Given the description of an element on the screen output the (x, y) to click on. 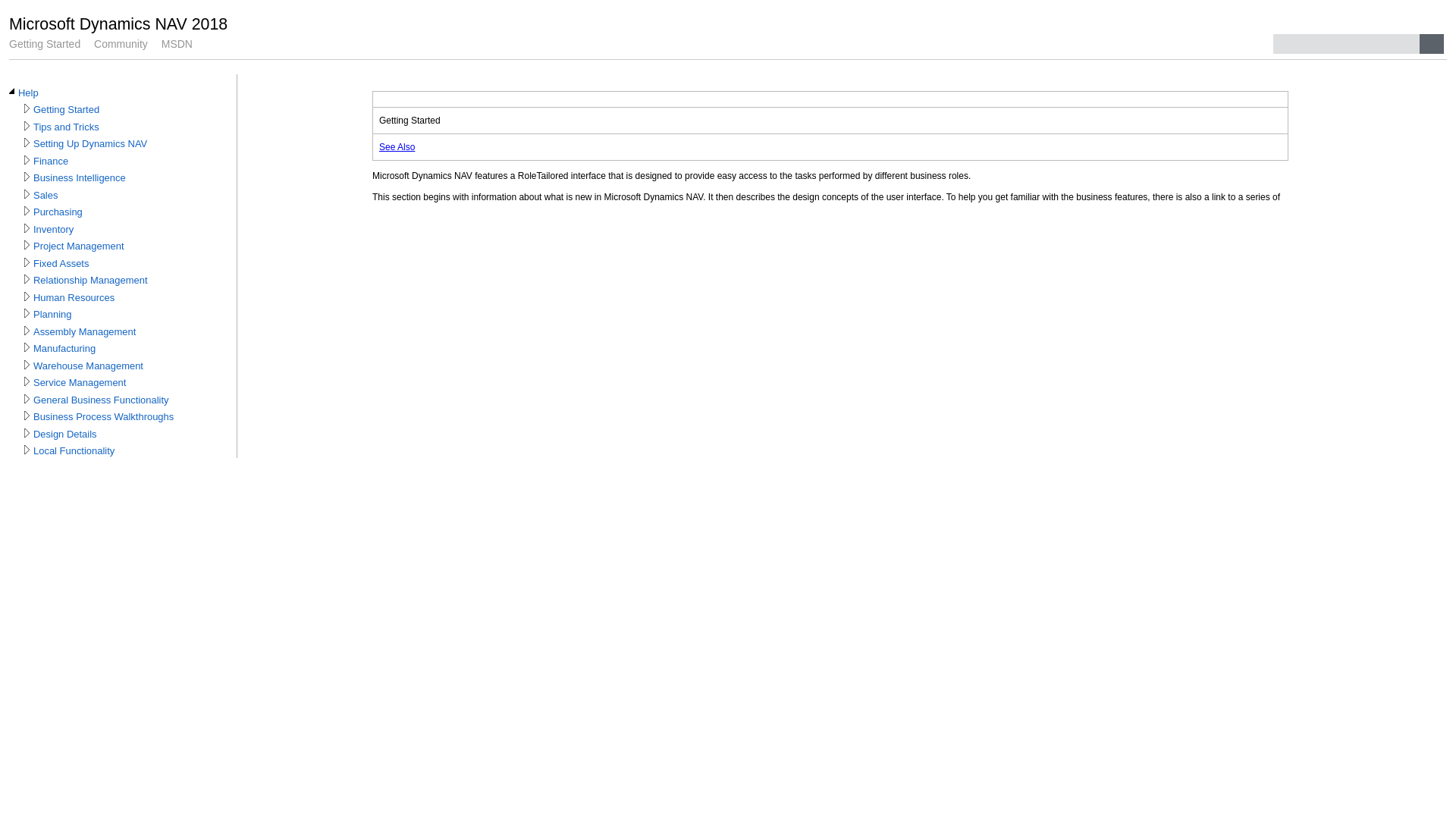
Manufacturing Element type: text (64, 348)
Expand Finance Element type: hover (26, 159)
Expand Local Functionality Element type: hover (26, 449)
Expand Service Management Element type: hover (26, 380)
Community Element type: text (120, 43)
Expand Project Management Element type: hover (26, 244)
Expand Business Process Walkthroughs Element type: hover (26, 415)
Fixed Assets Element type: text (60, 263)
Search Element type: hover (1346, 43)
Help Element type: text (28, 93)
Expand Relationship Management Element type: hover (26, 278)
Expand Fixed Assets Element type: hover (26, 261)
Setting Up Dynamics NAV Element type: text (90, 143)
Tips and Tricks Element type: text (66, 127)
Expand Getting Started Element type: hover (26, 107)
Expand Design Details Element type: hover (26, 432)
Expand Setting Up Dynamics NAV Element type: hover (26, 142)
Service Management Element type: text (79, 382)
Business Process Walkthroughs Element type: text (103, 416)
Expand Assembly Management Element type: hover (26, 330)
Expand Business Intelligence Element type: hover (26, 176)
Business Intelligence Element type: text (79, 178)
Assembly Management Element type: text (84, 331)
Getting Started Element type: text (66, 109)
Local Functionality Element type: text (73, 451)
Human Resources Element type: text (73, 297)
Expand Human Resources Element type: hover (26, 296)
Project Management Element type: text (78, 246)
Design Details Element type: text (65, 434)
Relationship Management Element type: text (90, 280)
Expand Purchasing Element type: hover (26, 210)
Getting Started Element type: text (44, 43)
Inventory Element type: text (53, 229)
Expand Tips and Tricks Element type: hover (26, 125)
Expand Warehouse Management Element type: hover (26, 364)
Expand Sales Element type: hover (26, 193)
Expand Manufacturing Element type: hover (26, 346)
Sales Element type: text (45, 195)
Planning Element type: text (52, 314)
Expand Inventory Element type: hover (26, 227)
Purchasing Element type: text (57, 212)
Collapse Help Element type: hover (11, 91)
Finance Element type: text (50, 161)
Search Element type: hover (1431, 43)
Expand General Business Functionality Element type: hover (26, 398)
Expand Planning Element type: hover (26, 312)
Warehouse Management Element type: text (88, 366)
MSDN Element type: text (176, 43)
General Business Functionality Element type: text (101, 400)
